Given the description of an element on the screen output the (x, y) to click on. 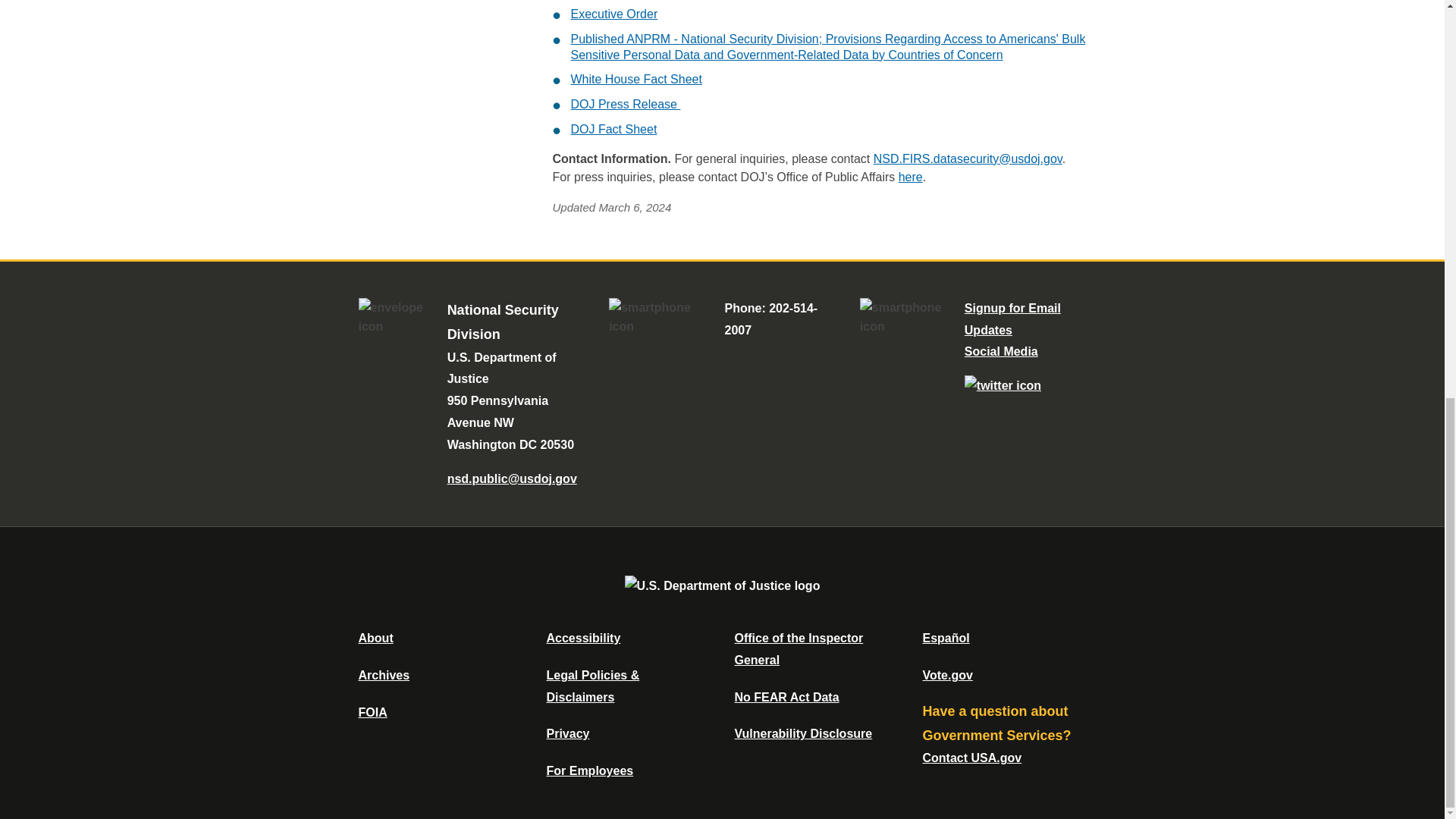
Department of Justice Archive (383, 675)
About DOJ (375, 637)
For Employees (589, 770)
Data Posted Pursuant To The No Fear Act (785, 697)
Legal Policies and Disclaimers (592, 686)
here (910, 176)
Office of Information Policy (372, 712)
Accessibility Statement (583, 637)
